Given the description of an element on the screen output the (x, y) to click on. 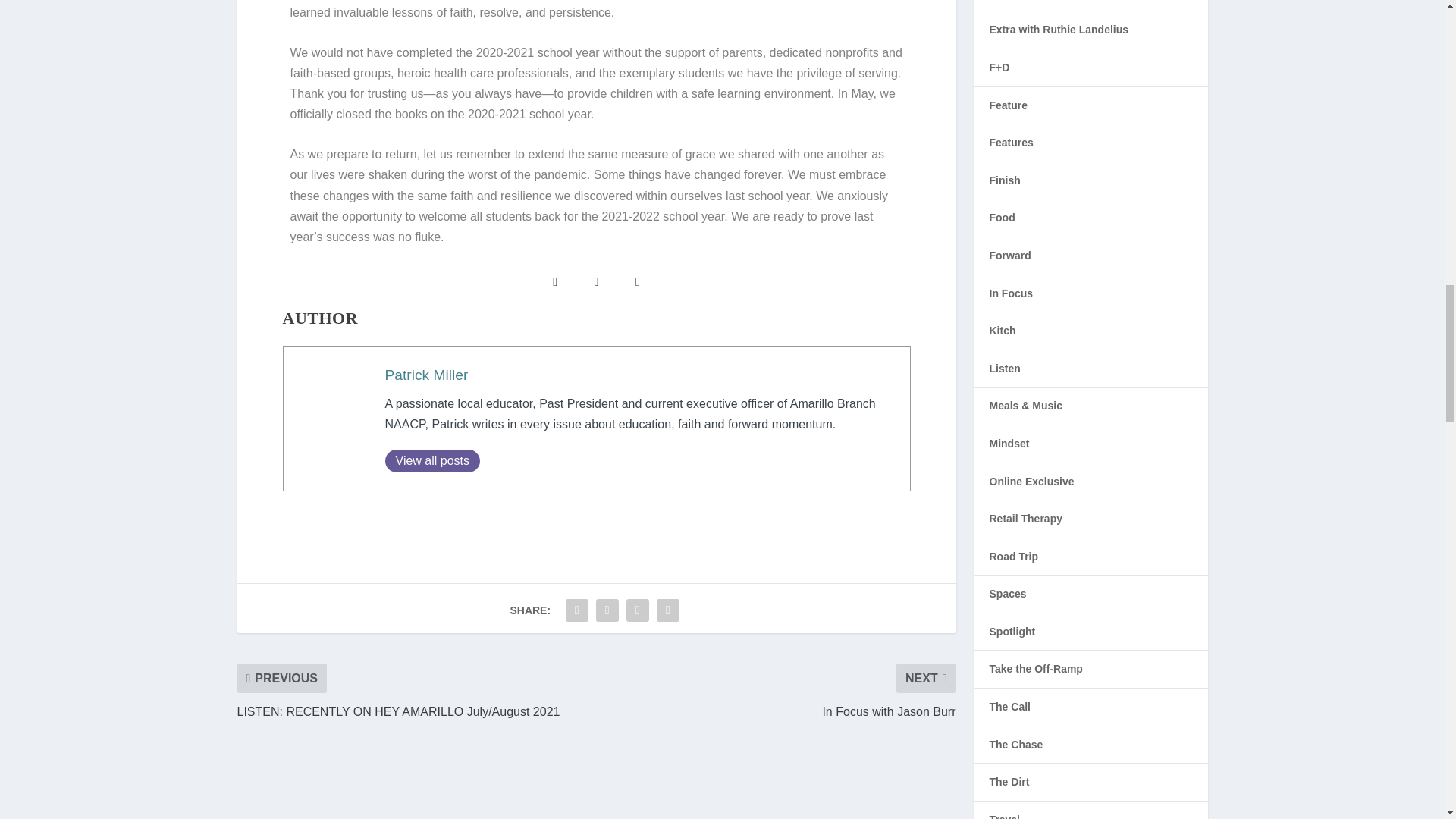
Share "Forward with Patrick Miller" via Facebook (577, 610)
Share "Forward with Patrick Miller" via Print (667, 610)
Share "Forward with Patrick Miller" via Twitter (607, 610)
View all posts (432, 460)
Share "Forward with Patrick Miller" via Email (637, 610)
Patrick Miller (426, 374)
